Given the description of an element on the screen output the (x, y) to click on. 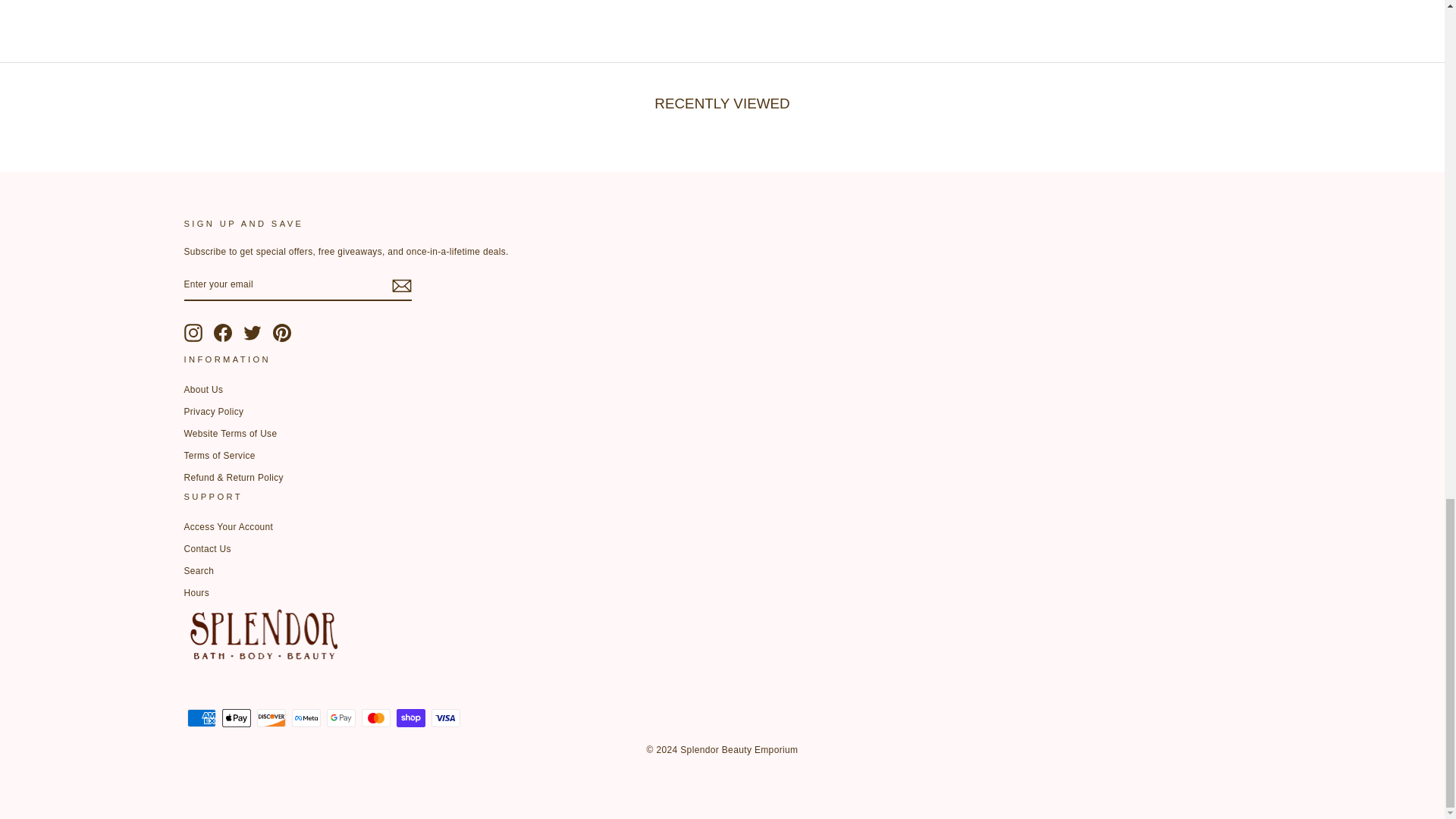
Discover (270, 718)
Splendor Beauty Emporium on Pinterest (282, 332)
Apple Pay (235, 718)
Splendor Beauty Emporium on Facebook (222, 332)
American Express (200, 718)
Splendor Beauty Emporium on Instagram (192, 332)
Splendor Beauty Emporium on Twitter (251, 332)
